Given the description of an element on the screen output the (x, y) to click on. 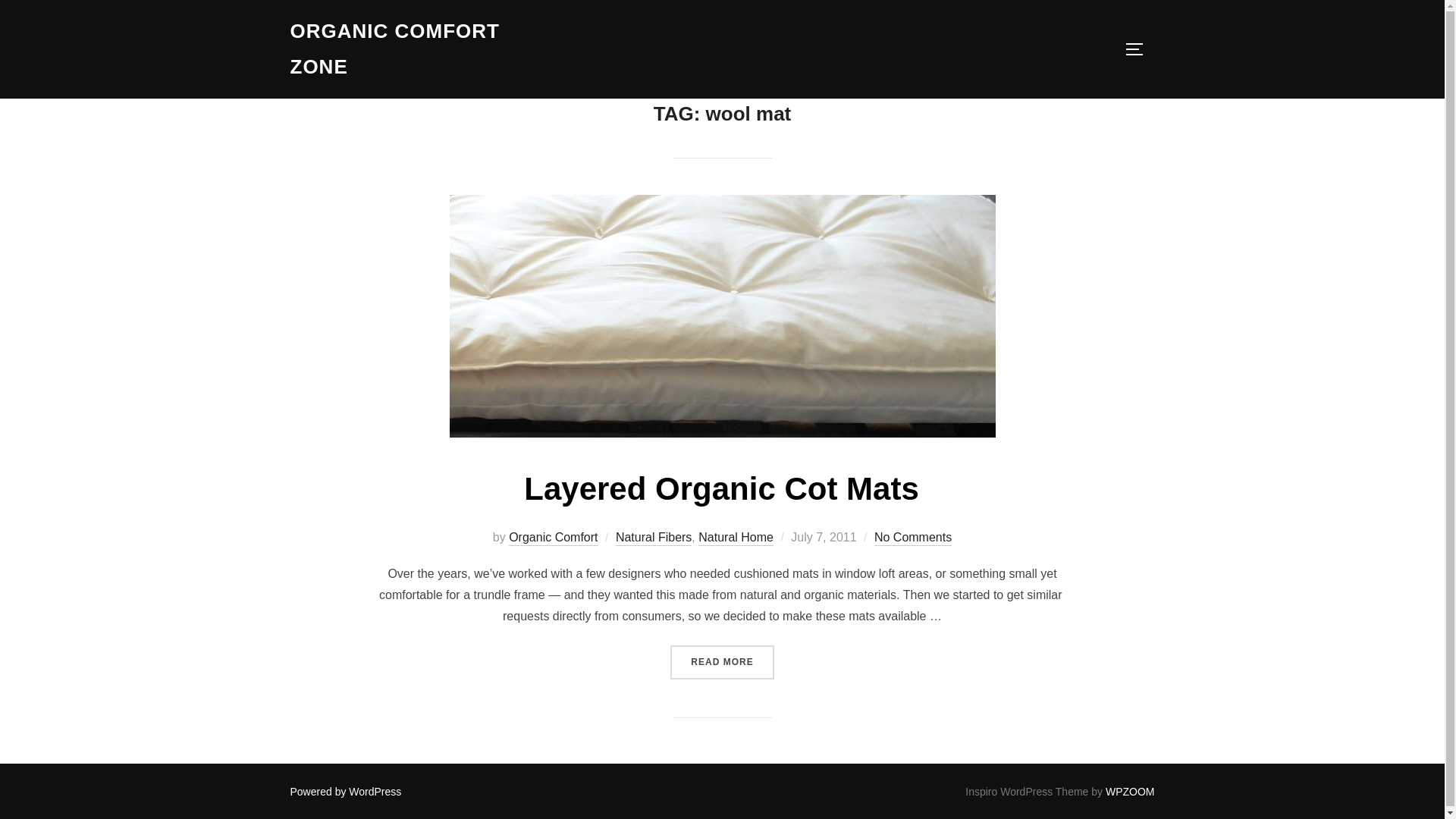
Natural Fibers (653, 538)
Layered Organic Cot Mats (721, 488)
Natural Home (735, 538)
WPZOOM (1129, 791)
No Comments (913, 538)
ORGANIC COMFORT ZONE (421, 49)
Powered by WordPress (345, 791)
Organic Comfort (552, 538)
